Given the description of an element on the screen output the (x, y) to click on. 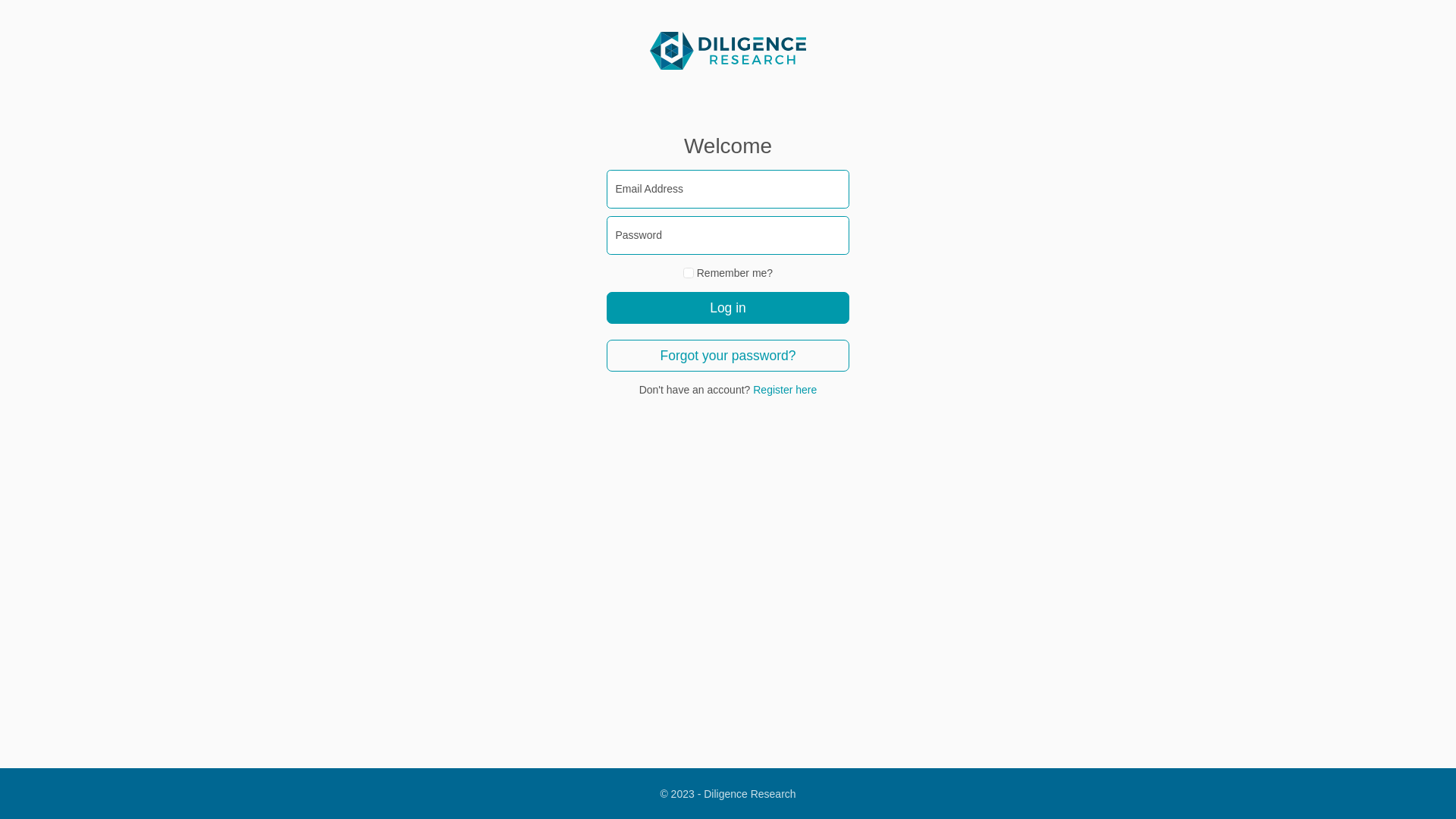
Register here Element type: text (784, 389)
Log in Element type: text (727, 307)
Forgot your password? Element type: text (727, 355)
